Given the description of an element on the screen output the (x, y) to click on. 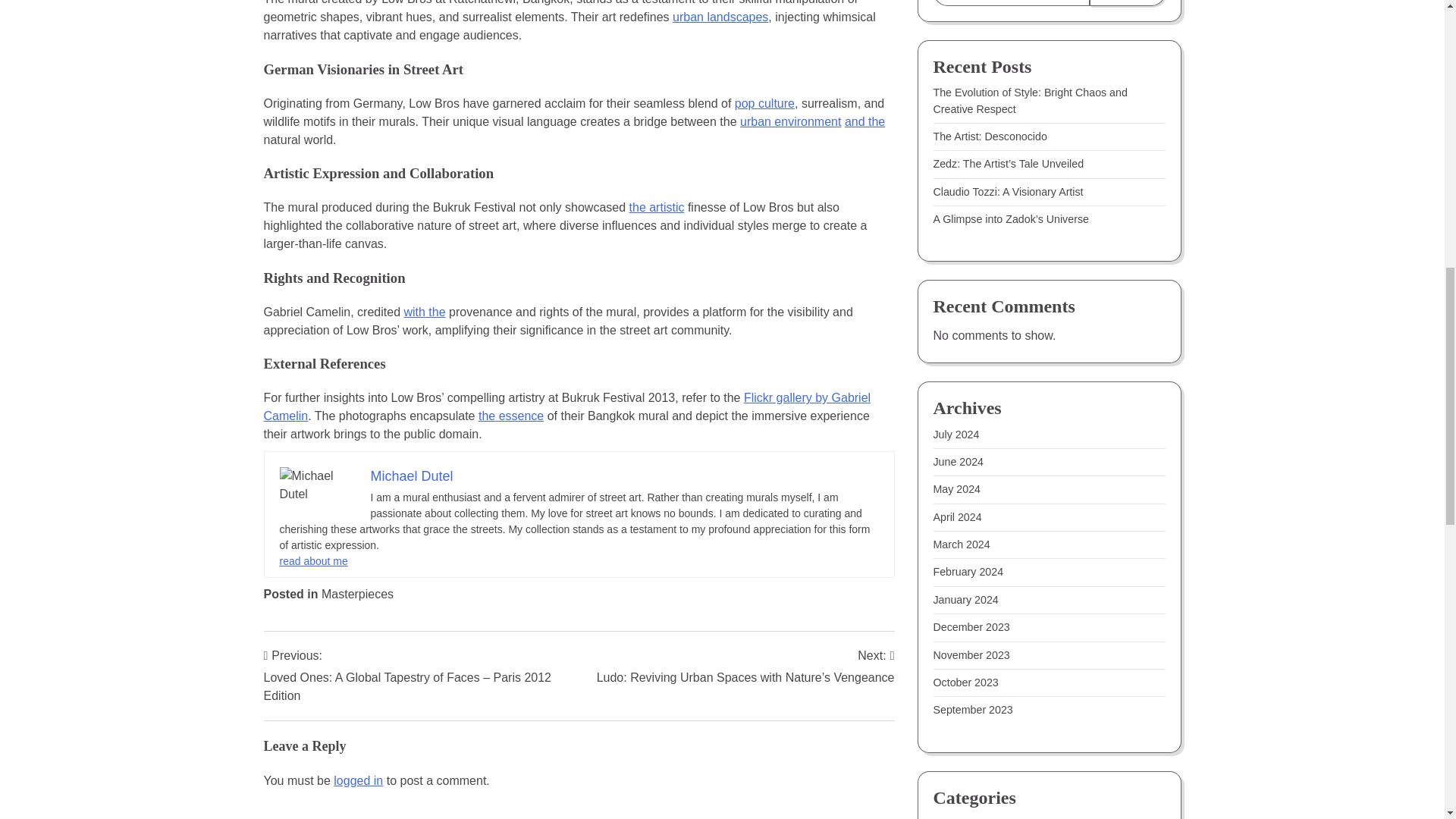
Masterpieces (357, 594)
urban environment (790, 121)
read about me (313, 561)
Michael Dutel (410, 476)
with the (424, 311)
Flickr gallery by Gabriel Camelin (566, 406)
Low Bros: German Mural Virtuosos 1 (317, 484)
and the (864, 121)
pop culture (764, 103)
the essence (511, 415)
logged in (357, 780)
urban landscapes (720, 16)
the artistic (656, 206)
